Given the description of an element on the screen output the (x, y) to click on. 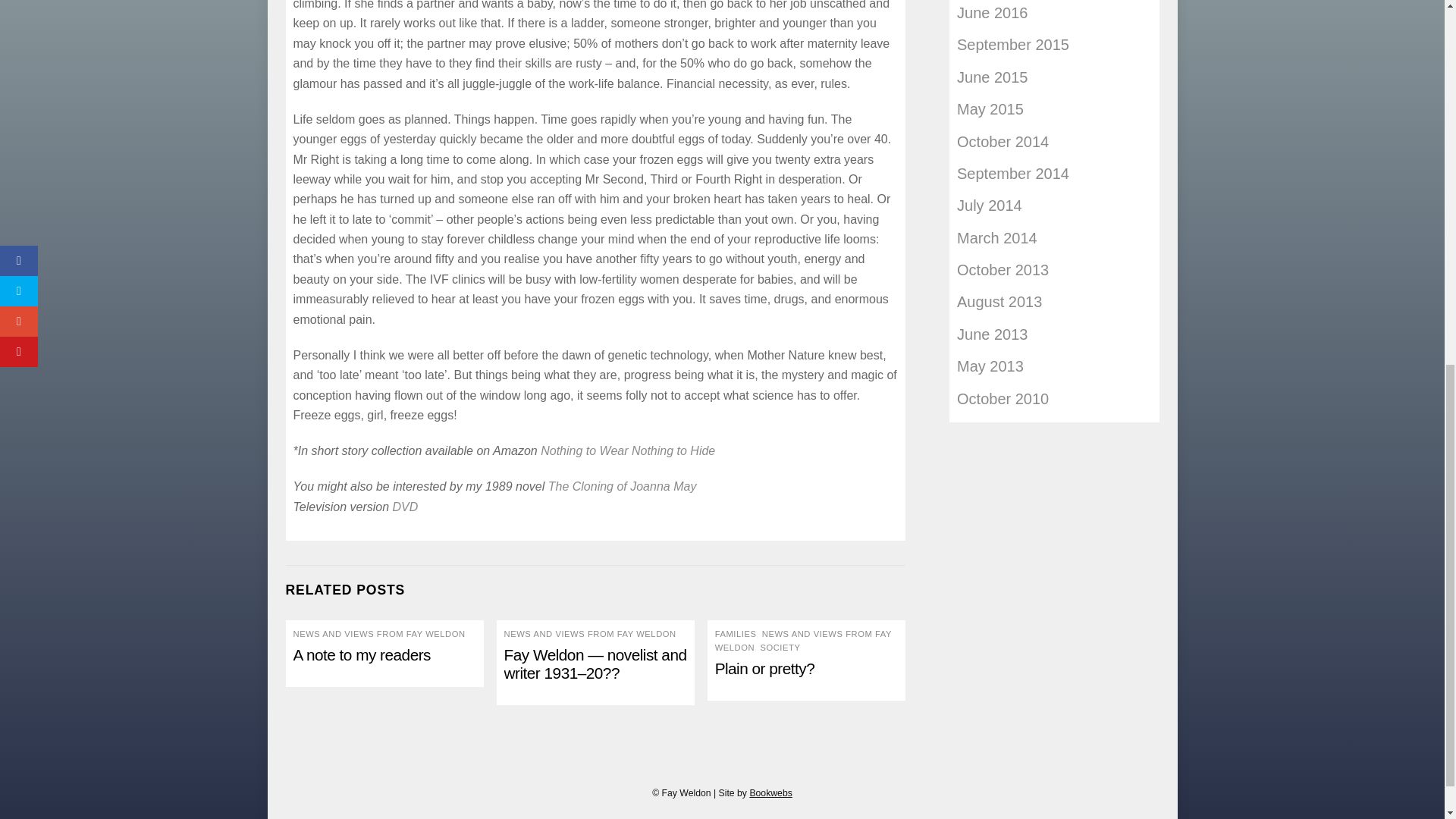
DVD (406, 506)
NEWS AND VIEWS FROM FAY WELDON (378, 633)
Fay Weldon (406, 506)
Plain or pretty? (764, 668)
July 2014 (989, 205)
A note to my readers (361, 654)
June 2015 (991, 76)
SOCIETY (779, 646)
The Cloning of Joanna May (622, 486)
Fay Weldon (627, 450)
